Given the description of an element on the screen output the (x, y) to click on. 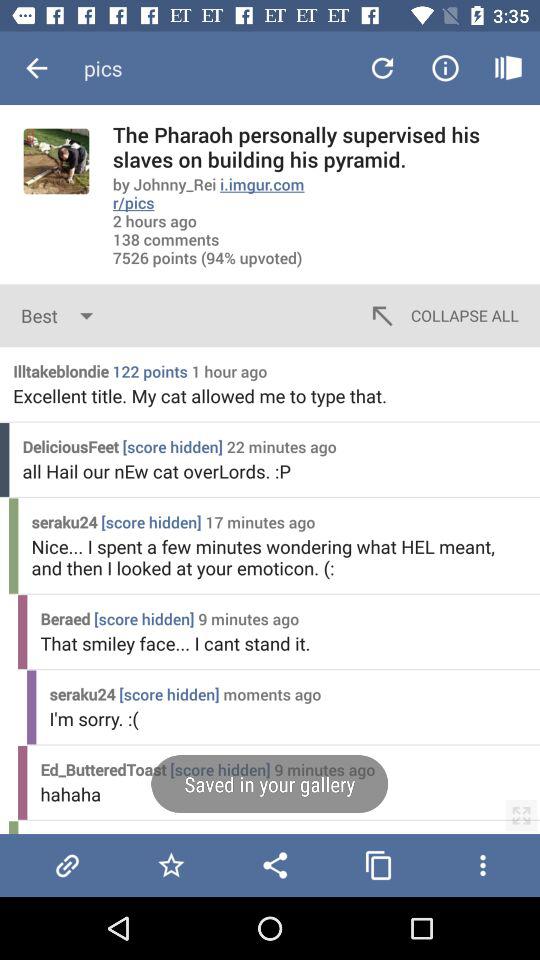
favorite the image (171, 865)
